Given the description of an element on the screen output the (x, y) to click on. 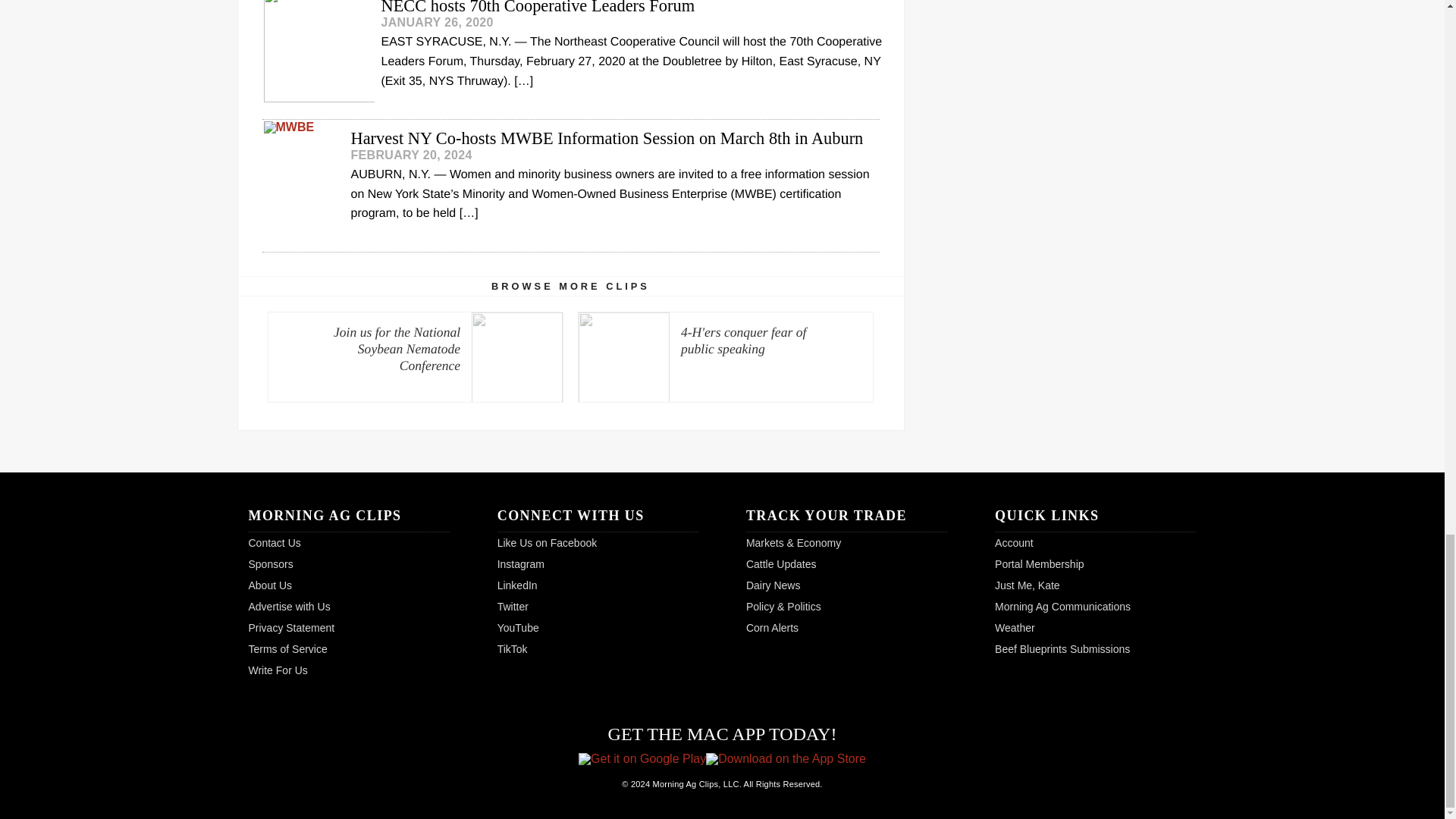
SUNY Morrisville hosts School of Agriculture conference (570, 6)
